Given the description of an element on the screen output the (x, y) to click on. 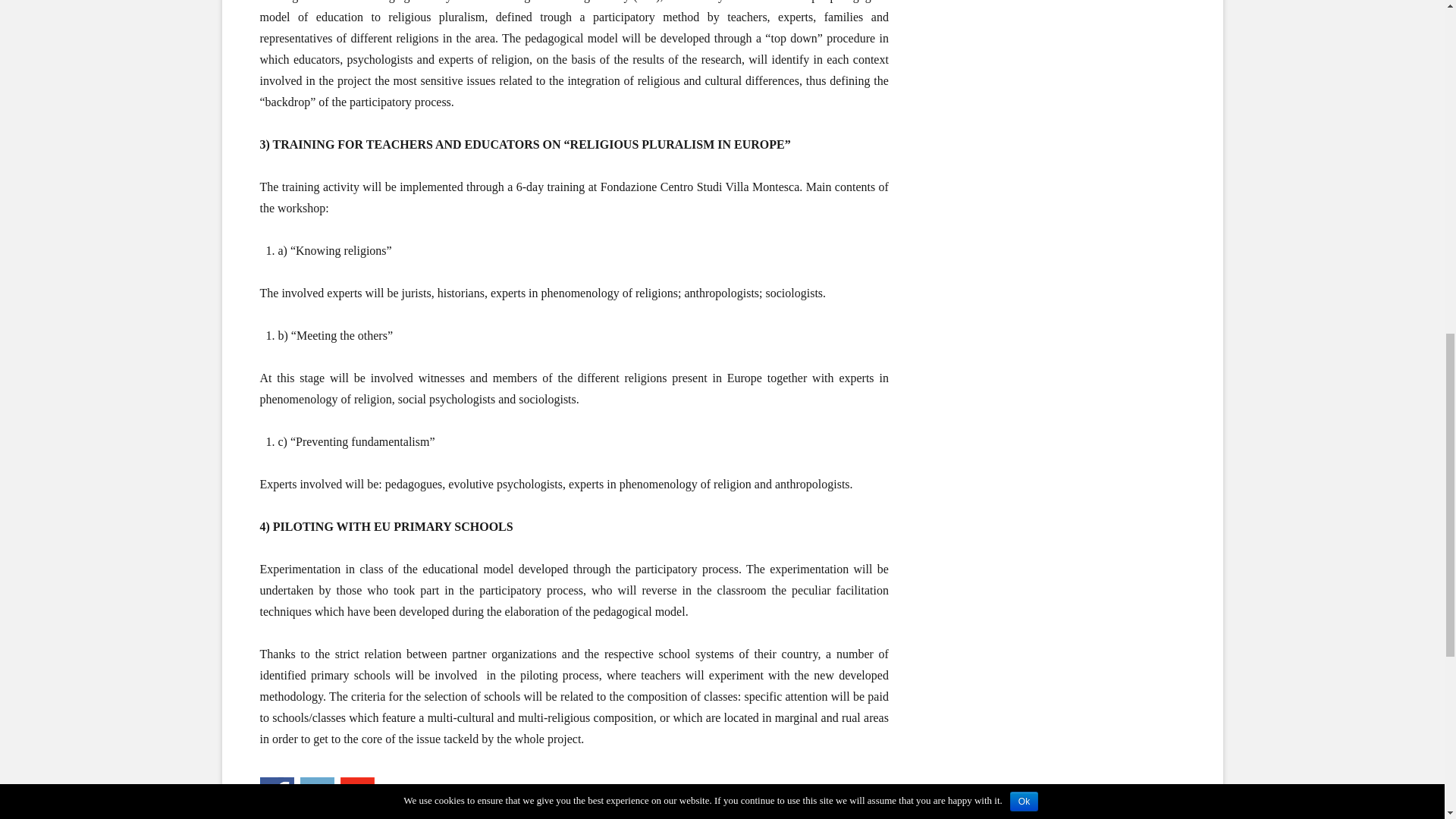
Share on Twitter (316, 794)
Share on Facebook (276, 794)
